Given the description of an element on the screen output the (x, y) to click on. 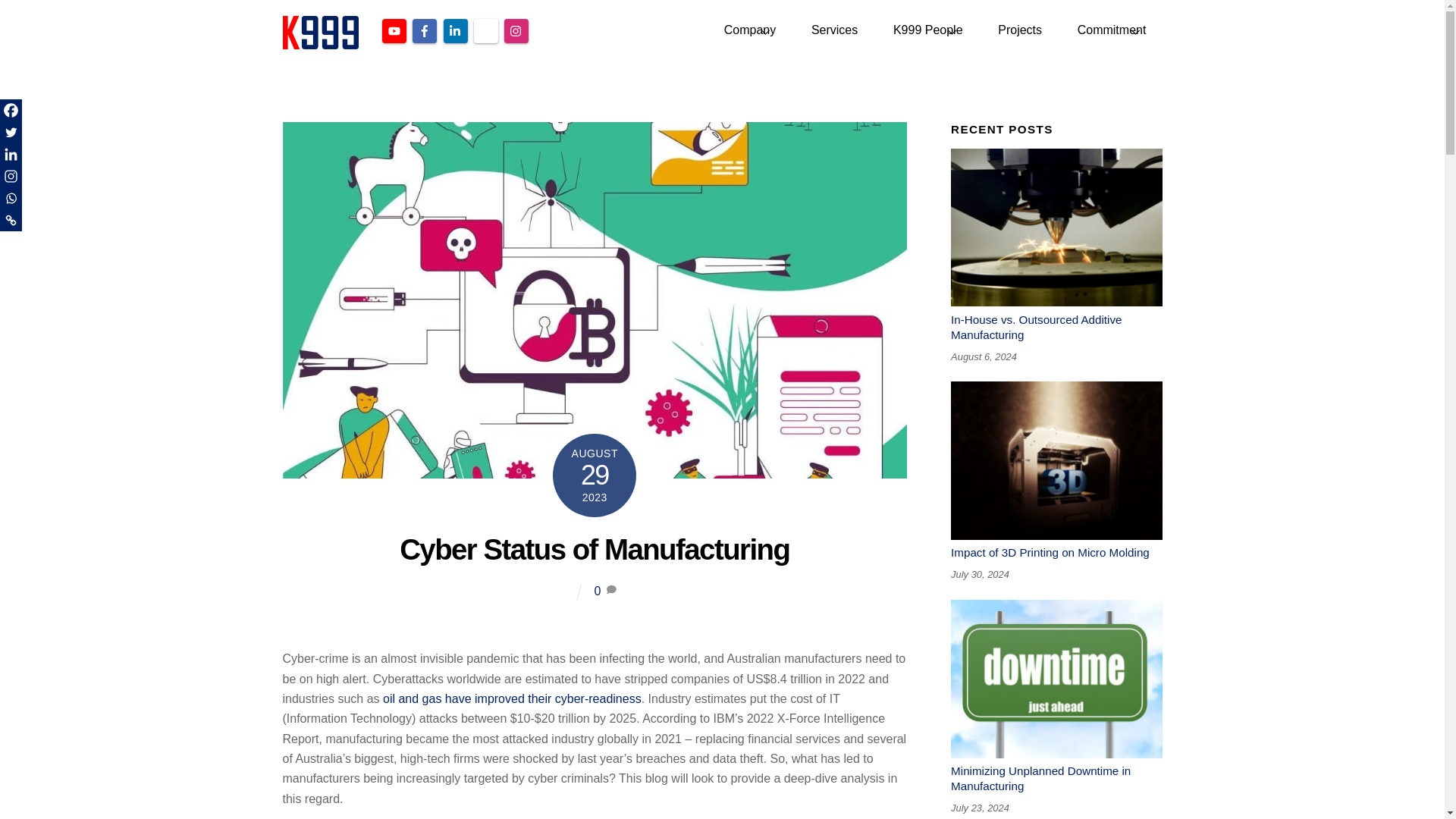
Linkedin (10, 154)
K999 People (927, 30)
2684 (1055, 460)
Facebook (10, 110)
4854 (1055, 678)
Whatsapp (10, 198)
Copy Link (10, 219)
3D printer for metal (1055, 227)
Twitter (721, 30)
